Given the description of an element on the screen output the (x, y) to click on. 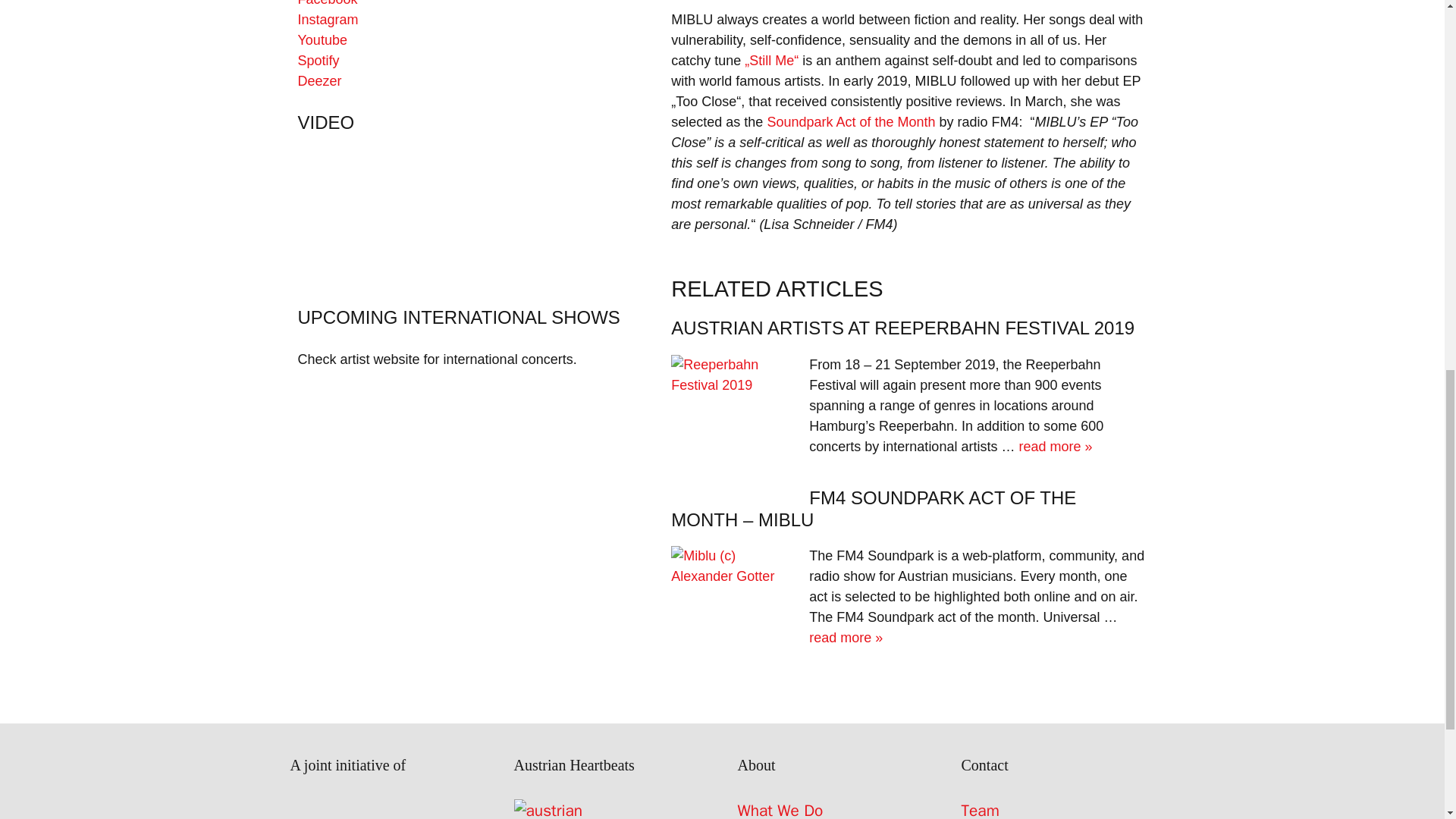
Soundpark Act of the Month (850, 121)
AUSTRIAN ARTISTS AT REEPERBAHN FESTIVAL 2019 (902, 327)
Instagram (327, 19)
Deezer (318, 80)
Facebook (326, 3)
Scroll back to top (1406, 720)
Instagram (327, 19)
Spotify (318, 60)
Deezer (318, 80)
Youtube (321, 39)
